Given the description of an element on the screen output the (x, y) to click on. 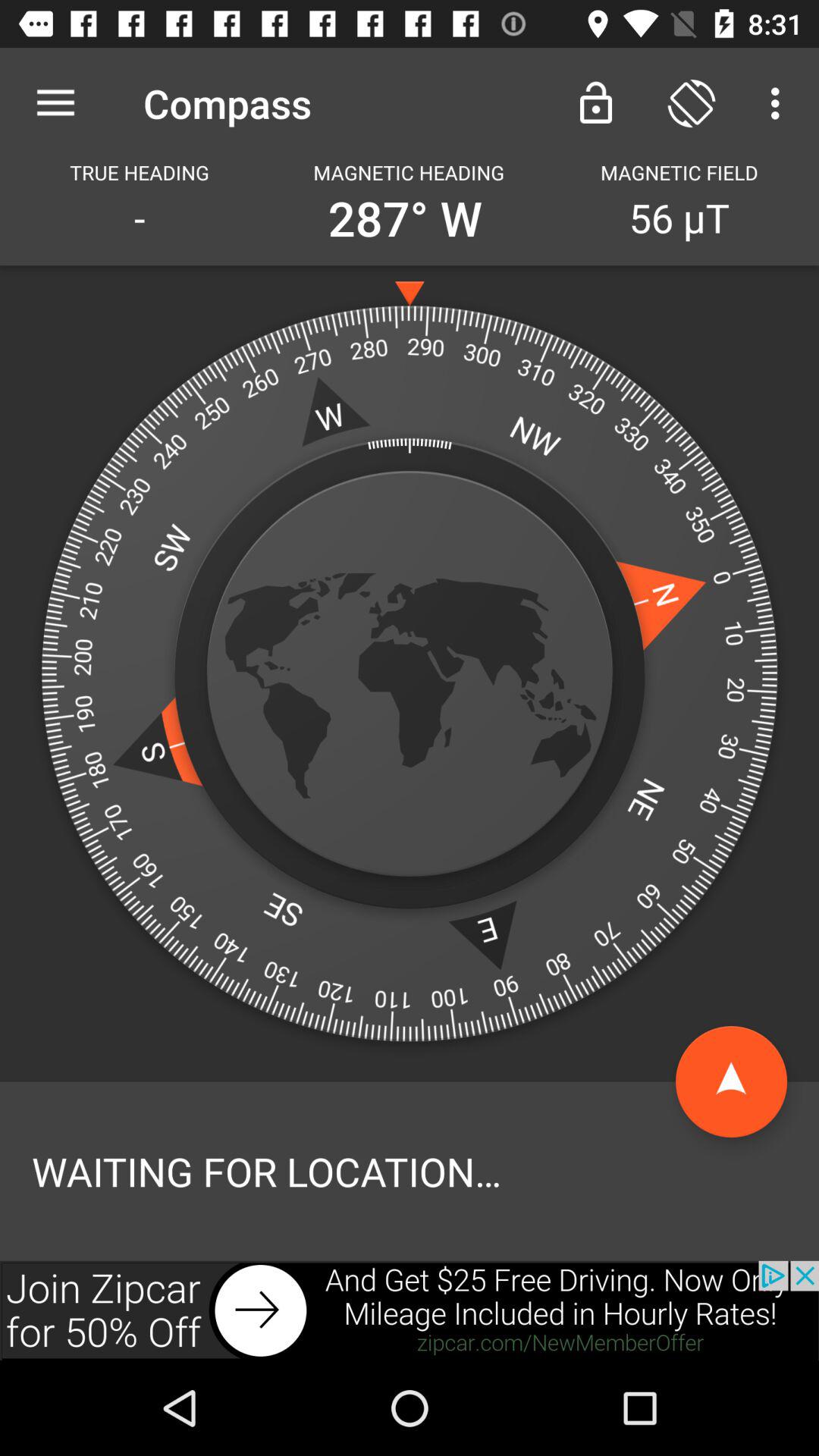
going to top page (731, 1081)
